Given the description of an element on the screen output the (x, y) to click on. 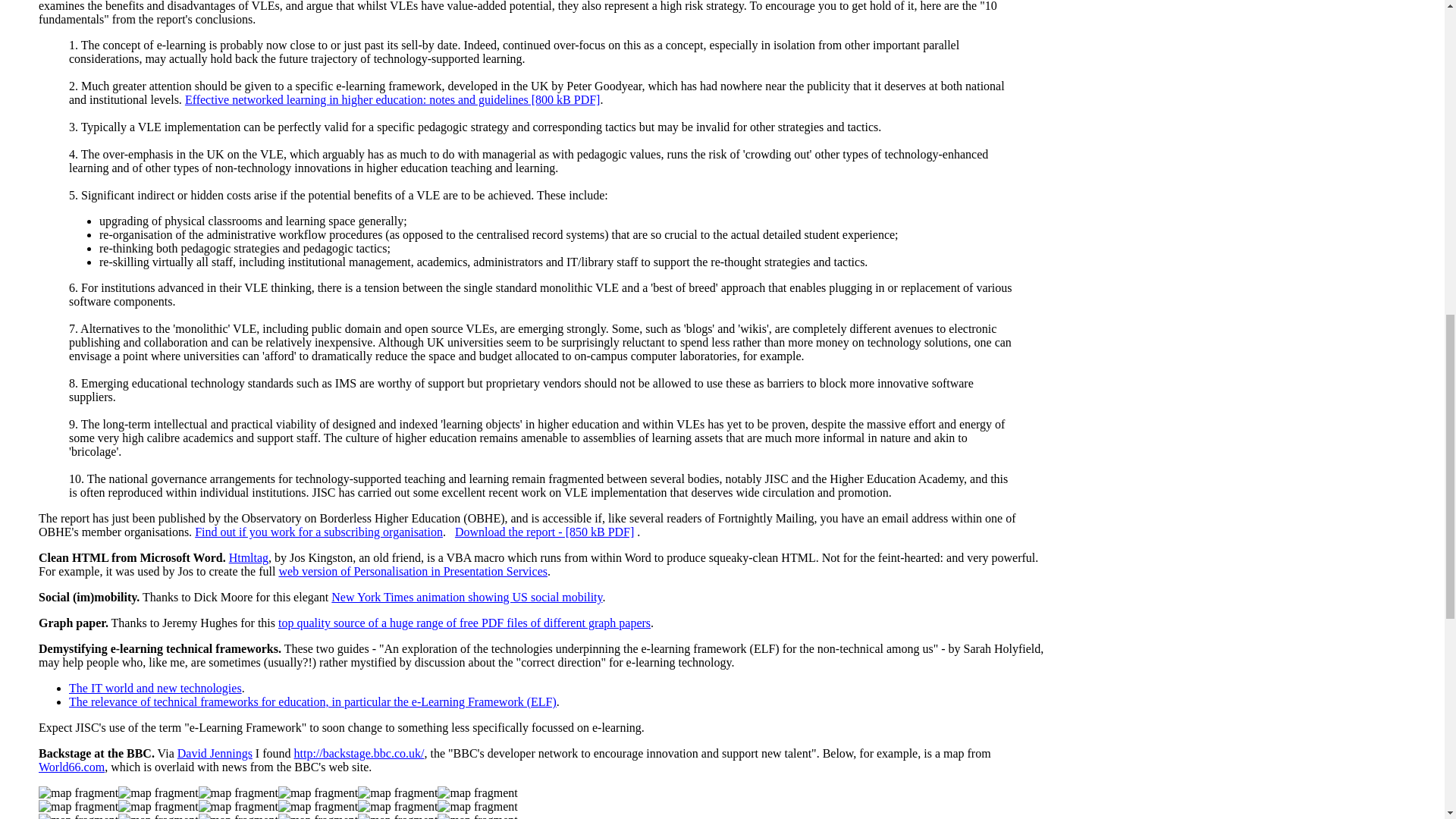
web version of Personalisation in Presentation Services (412, 571)
World66.com (71, 766)
Find out if you work for a subscribing organisation (318, 531)
The IT world and new technologies (154, 687)
Htmltag (247, 557)
David Jennings (214, 753)
New York Times animation showing US social mobility (466, 596)
